Given the description of an element on the screen output the (x, y) to click on. 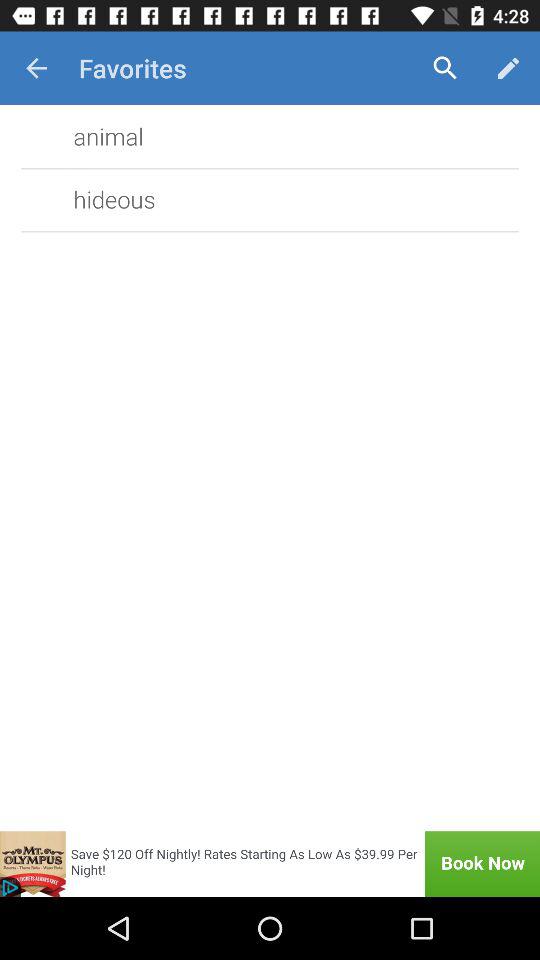
select the item below hideous icon (270, 863)
